Given the description of an element on the screen output the (x, y) to click on. 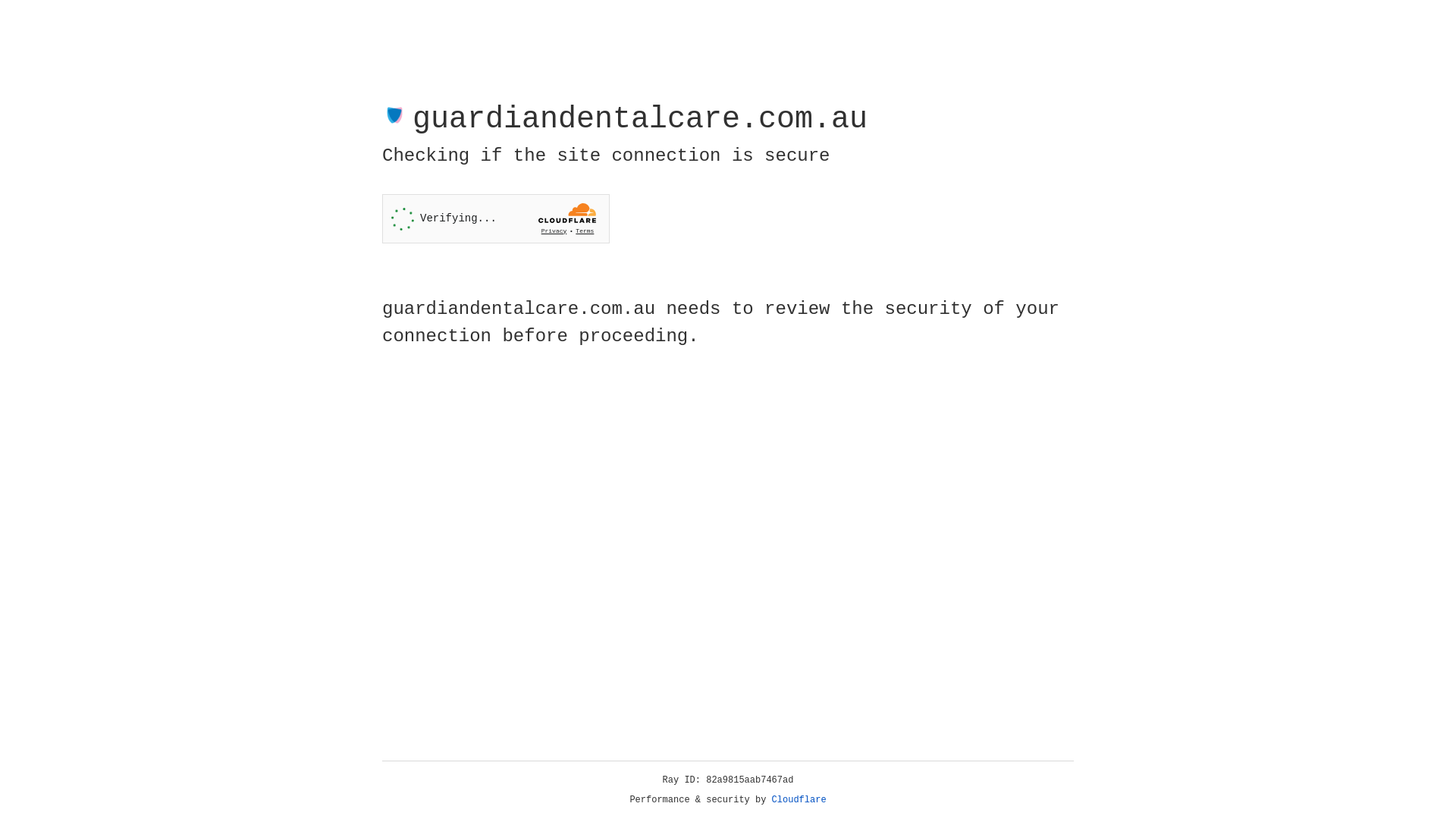
Cloudflare Element type: text (798, 799)
Widget containing a Cloudflare security challenge Element type: hover (495, 218)
